Given the description of an element on the screen output the (x, y) to click on. 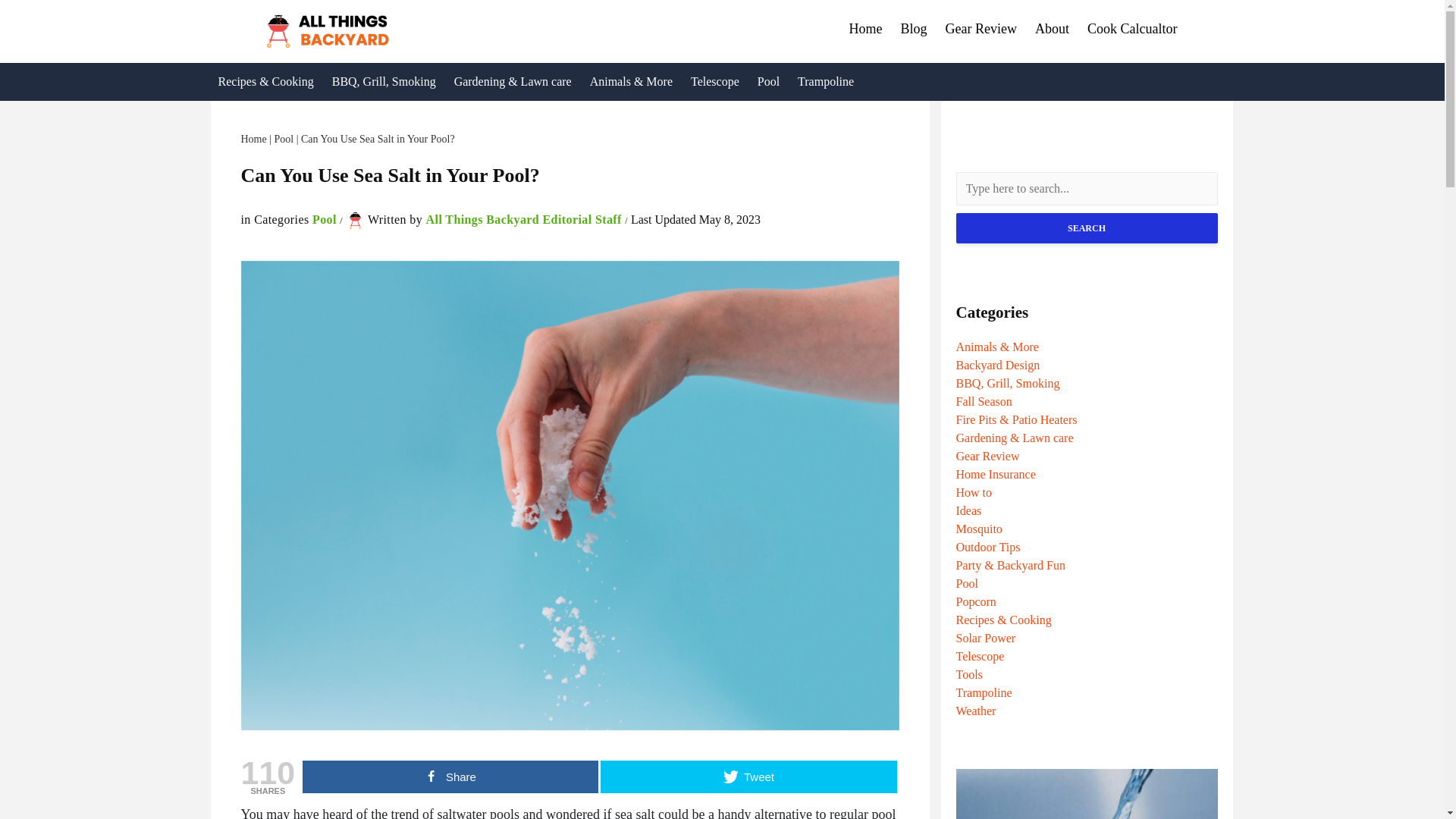
Share (450, 776)
Cook Calcualtor (1132, 33)
Posts by All Things Backyard Editorial Staff (526, 219)
Pool (324, 219)
Trampoline (825, 81)
About (1052, 33)
All Things Backyard Editorial Staff (526, 219)
Tweet (747, 776)
Home (253, 138)
Gear Review (981, 33)
BBQ, Grill, Smoking (384, 81)
Blog (913, 33)
Telescope (714, 81)
Pool (284, 138)
Pool (768, 81)
